Given the description of an element on the screen output the (x, y) to click on. 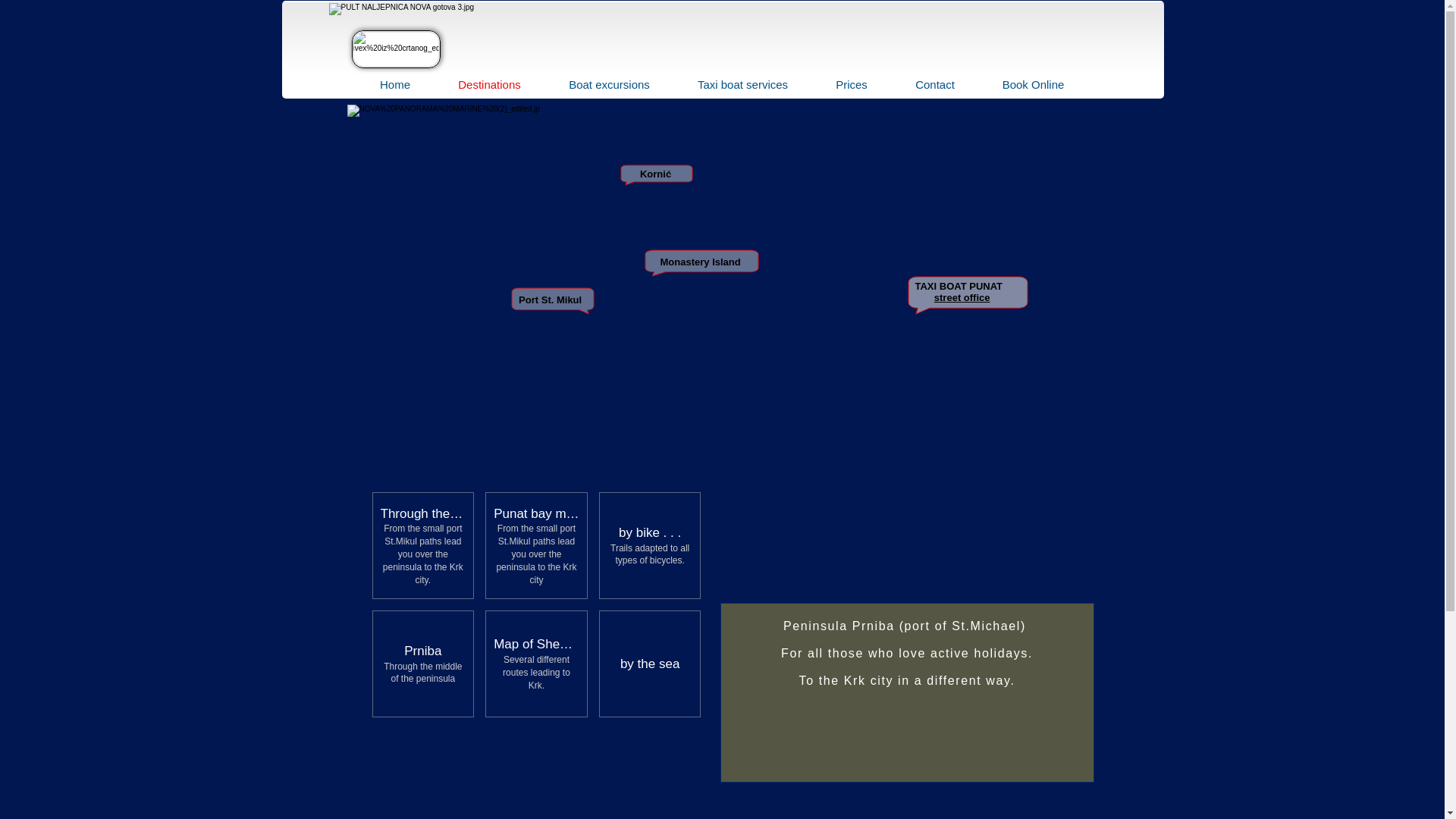
Taxi boat services (741, 84)
Prices (850, 84)
Contact (934, 84)
Book Online (1032, 84)
street office (962, 297)
Destinations (488, 84)
Home (394, 84)
Monastery Island (699, 261)
Boat excursions (608, 84)
